Given the description of an element on the screen output the (x, y) to click on. 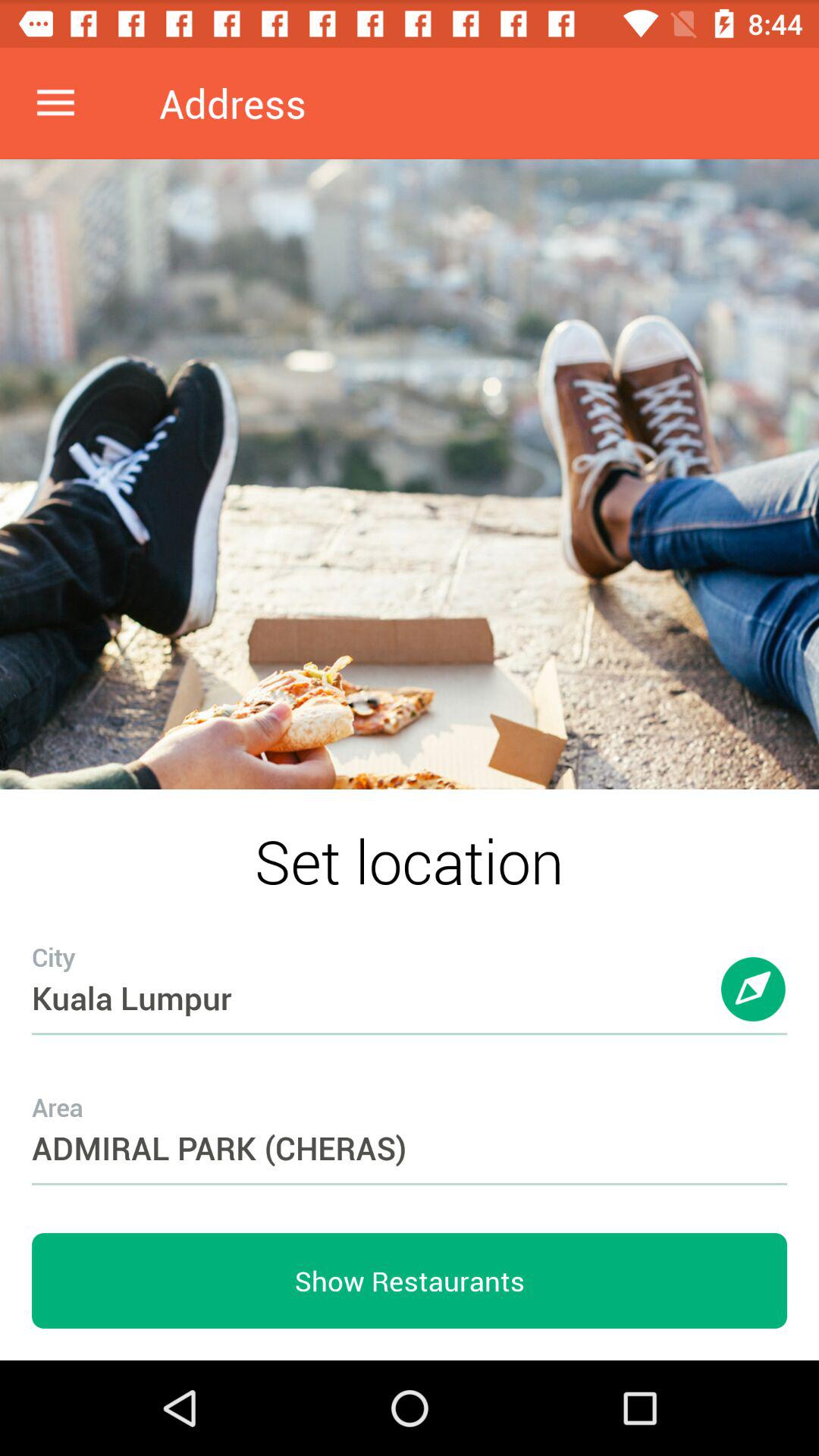
turn off the item above admiral park (cheras) icon (409, 967)
